Given the description of an element on the screen output the (x, y) to click on. 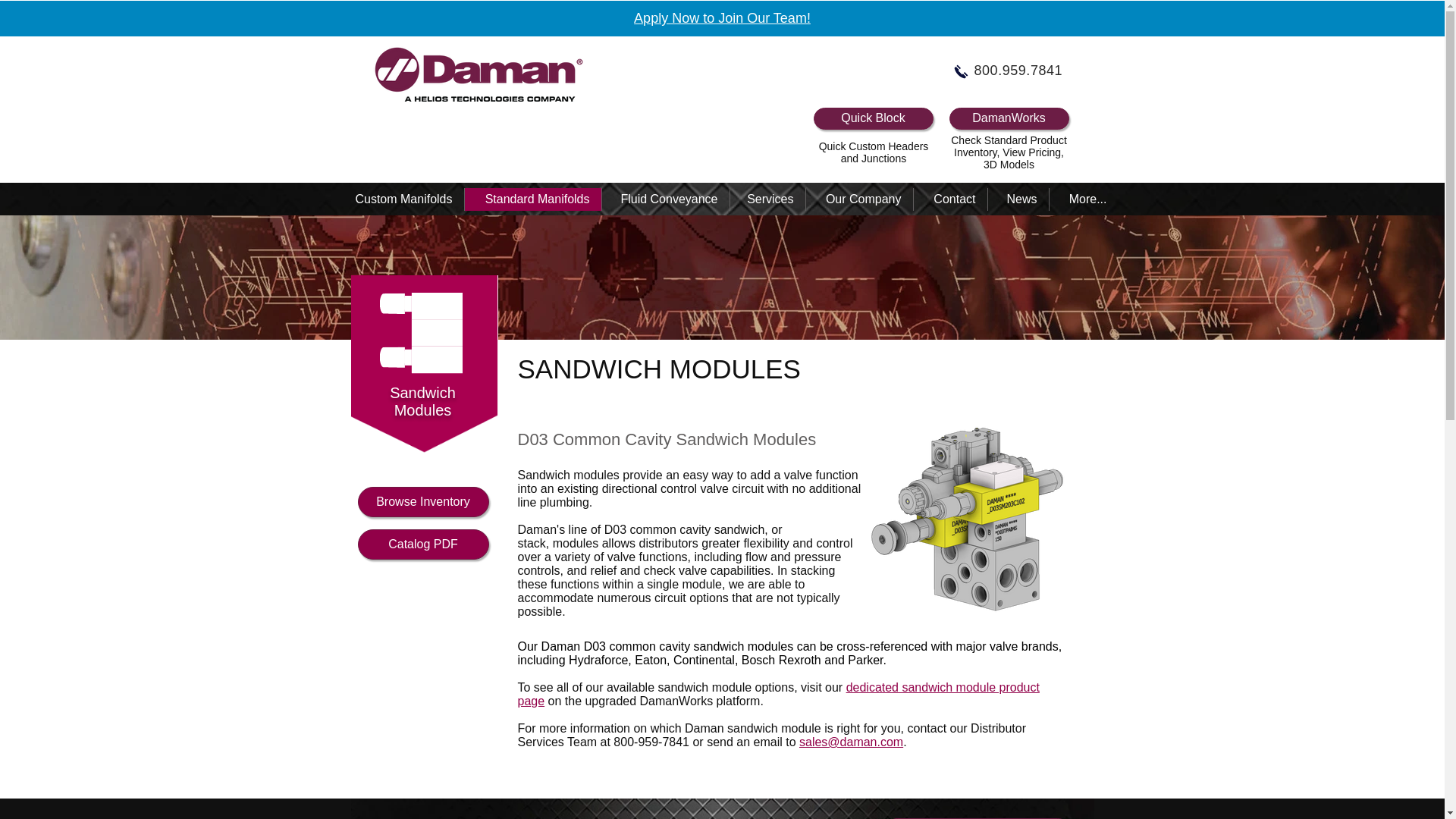
Site Search (476, 135)
Embedded Content (555, 135)
Custom Manifolds (397, 199)
Services (767, 199)
Quick Block (872, 118)
DamanWorks (1008, 118)
Standard Manifolds (532, 199)
Fluid Conveyance (664, 199)
Apply Now to Join Our Team! (721, 17)
